Given the description of an element on the screen output the (x, y) to click on. 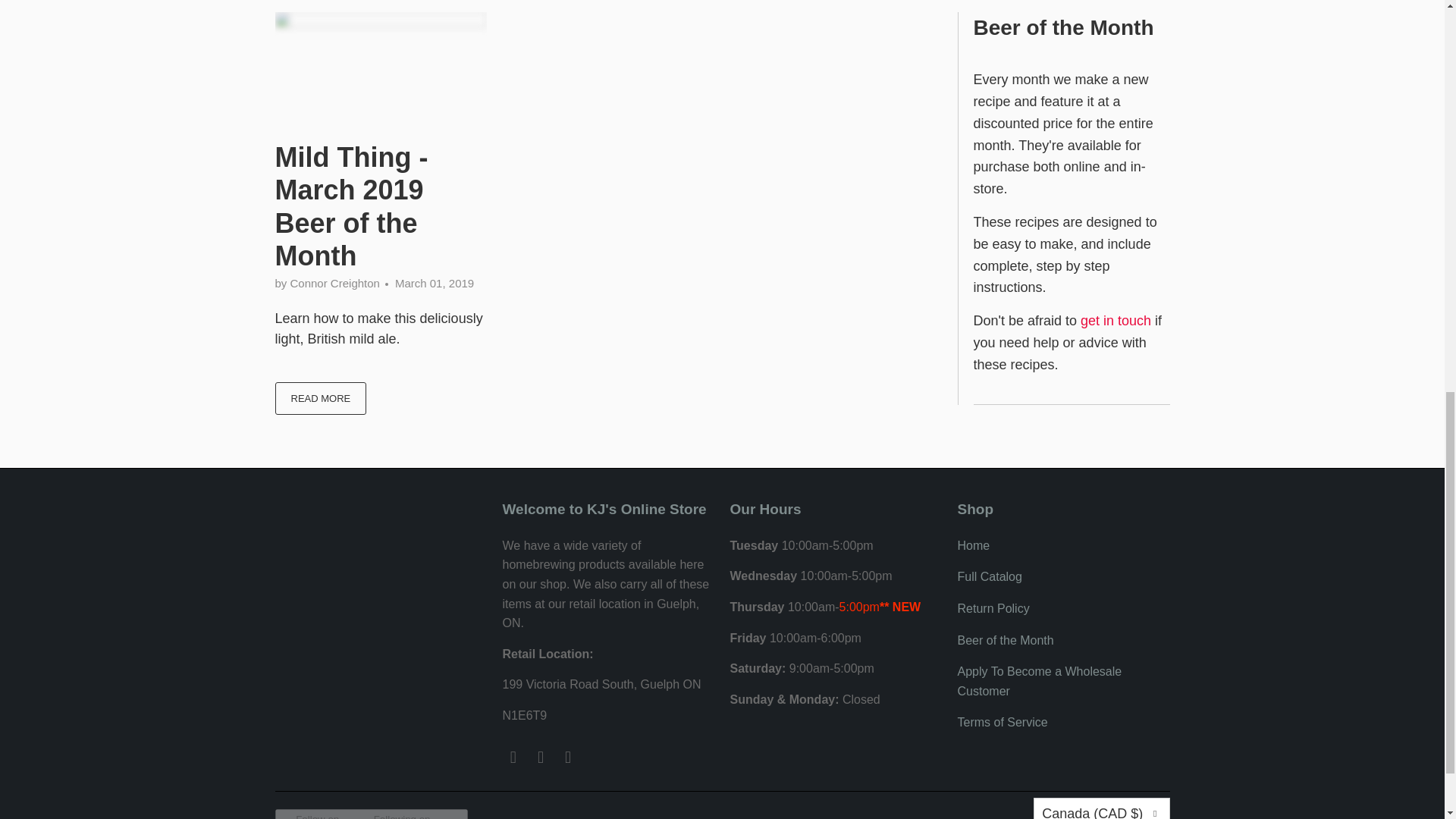
Mild Thing - March 2019 Beer of the Month (380, 64)
Contact Us (1115, 320)
Mild Thing - March 2019 Beer of the Month (320, 398)
